Given the description of an element on the screen output the (x, y) to click on. 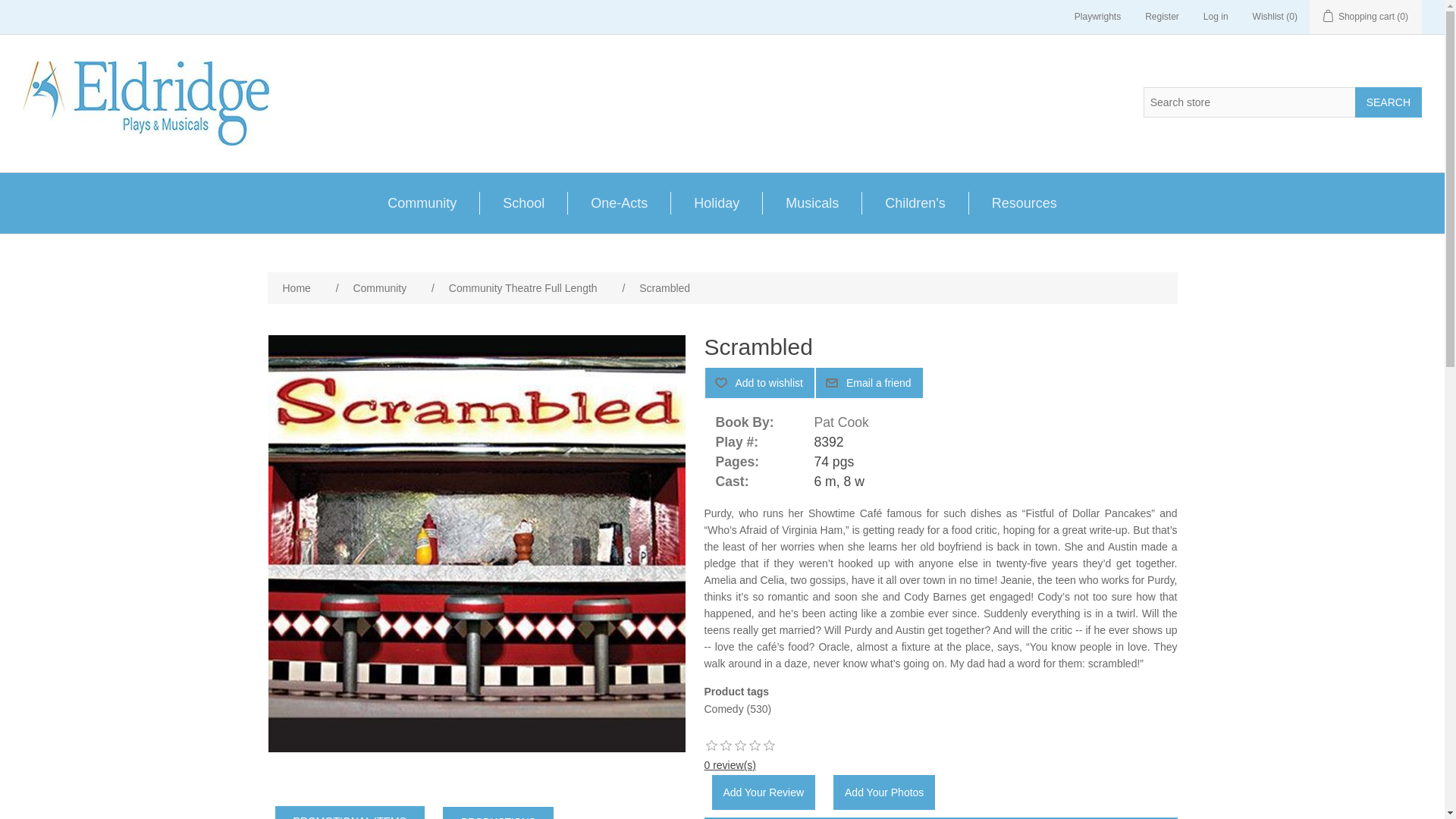
Musicals (811, 202)
Search (1388, 101)
Search (1388, 101)
Search (1388, 101)
Add to wishlist (758, 382)
Playwrights (1097, 17)
One-Acts (619, 202)
Register (1161, 17)
Email a friend (869, 382)
